Given the description of an element on the screen output the (x, y) to click on. 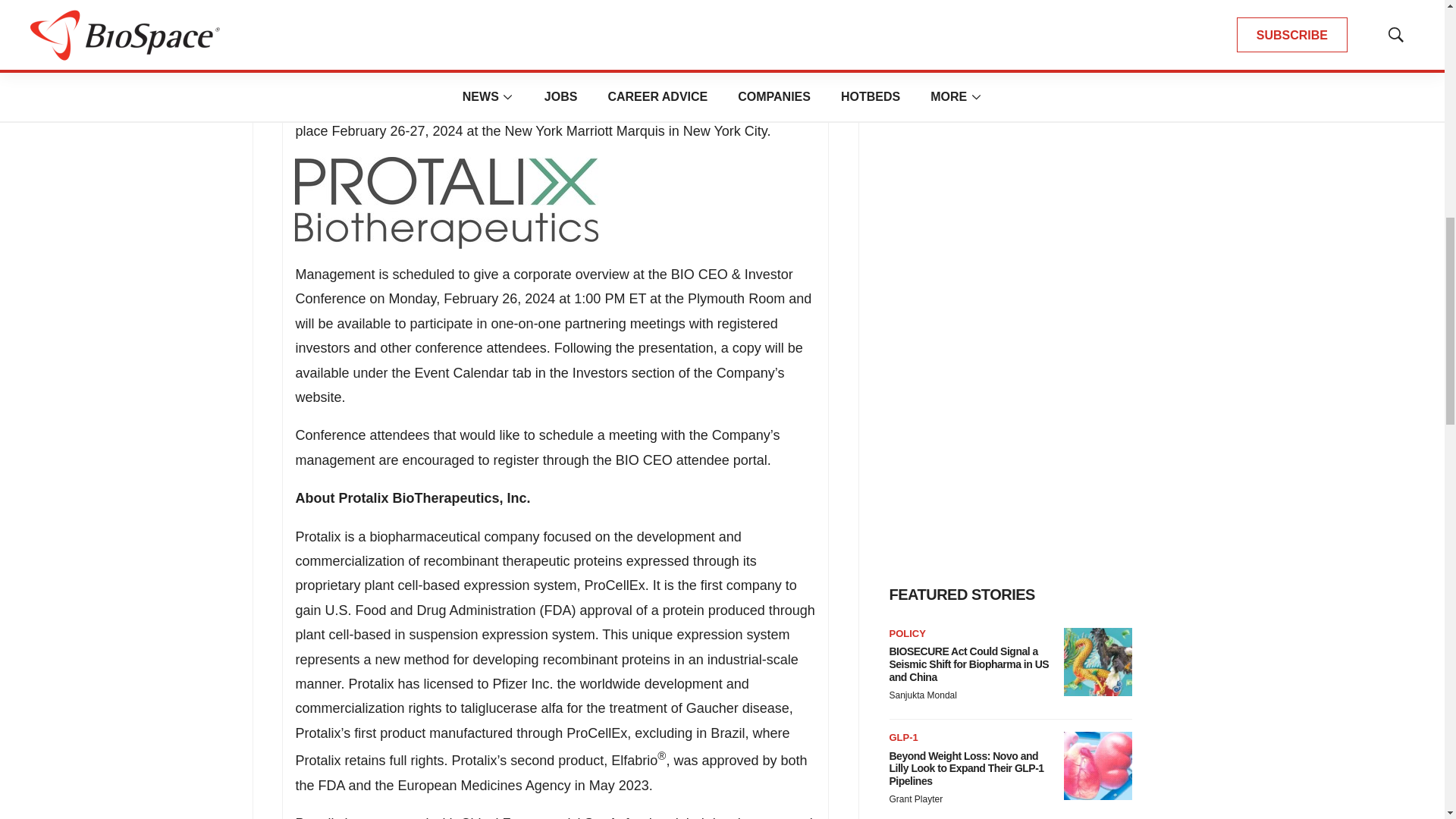
Protalix BioTherapeutics Logo (446, 202)
